Given the description of an element on the screen output the (x, y) to click on. 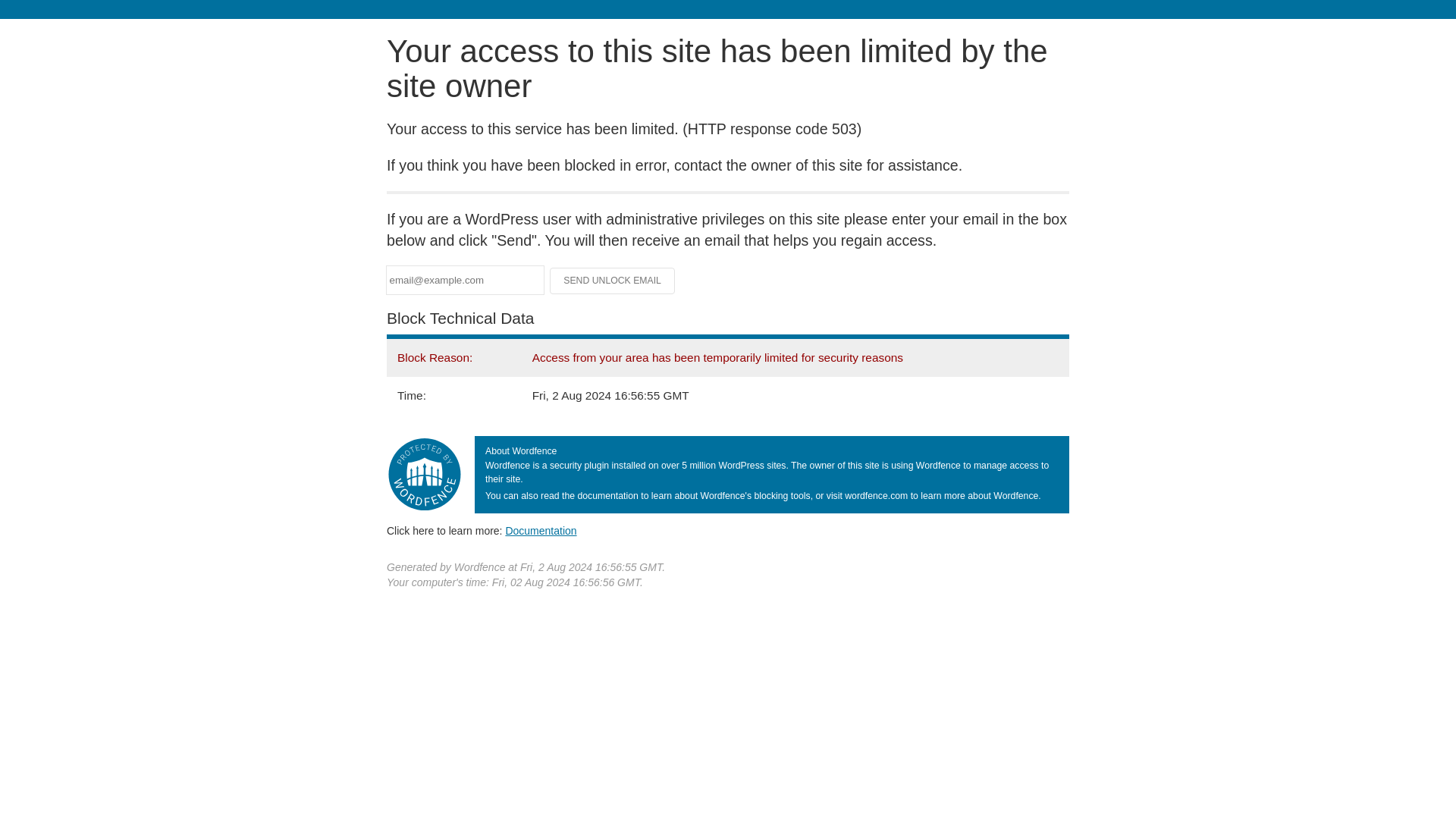
Send Unlock Email (612, 280)
Send Unlock Email (612, 280)
